Given the description of an element on the screen output the (x, y) to click on. 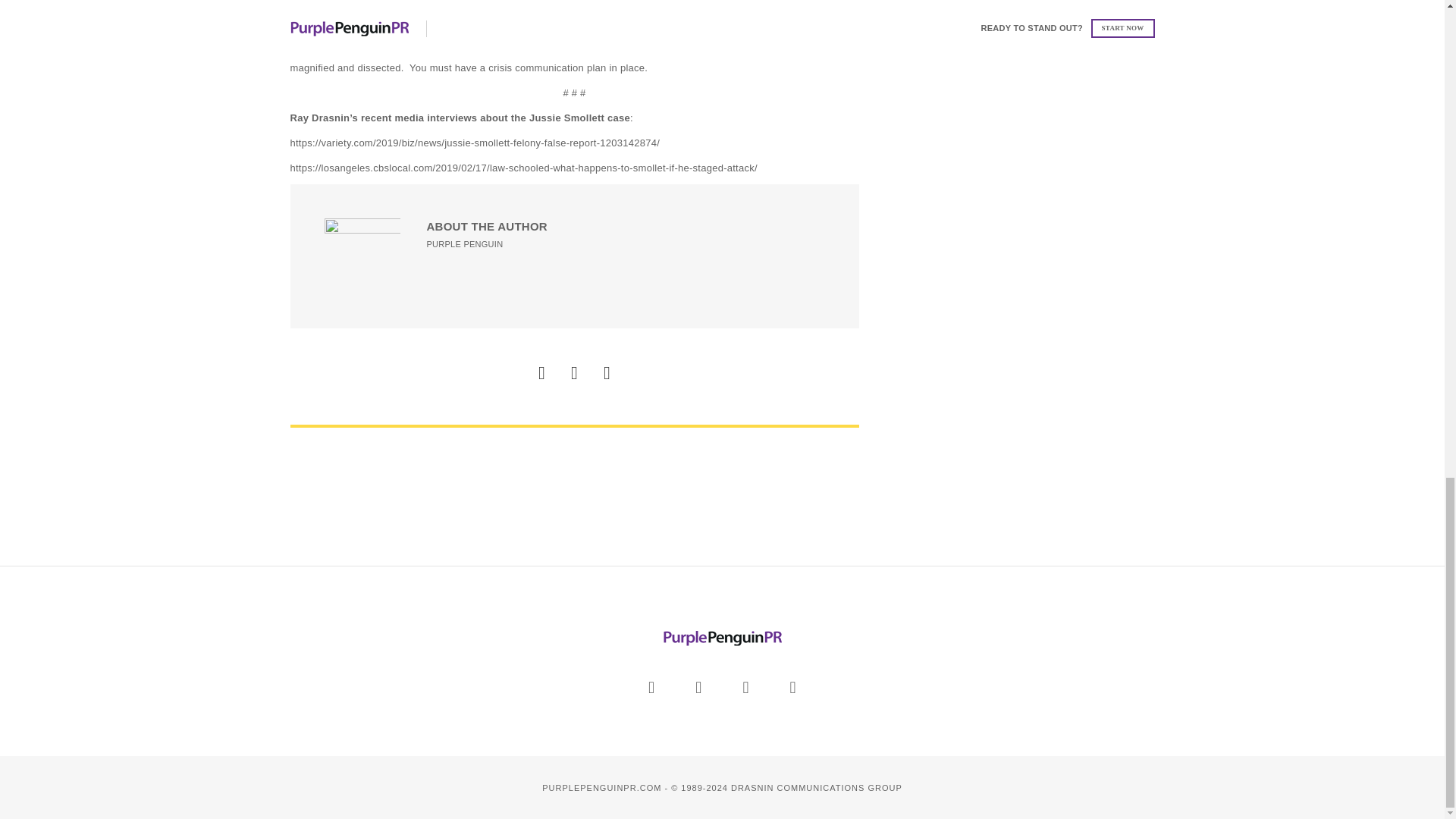
ABOUT THE AUTHOR (486, 226)
